Given the description of an element on the screen output the (x, y) to click on. 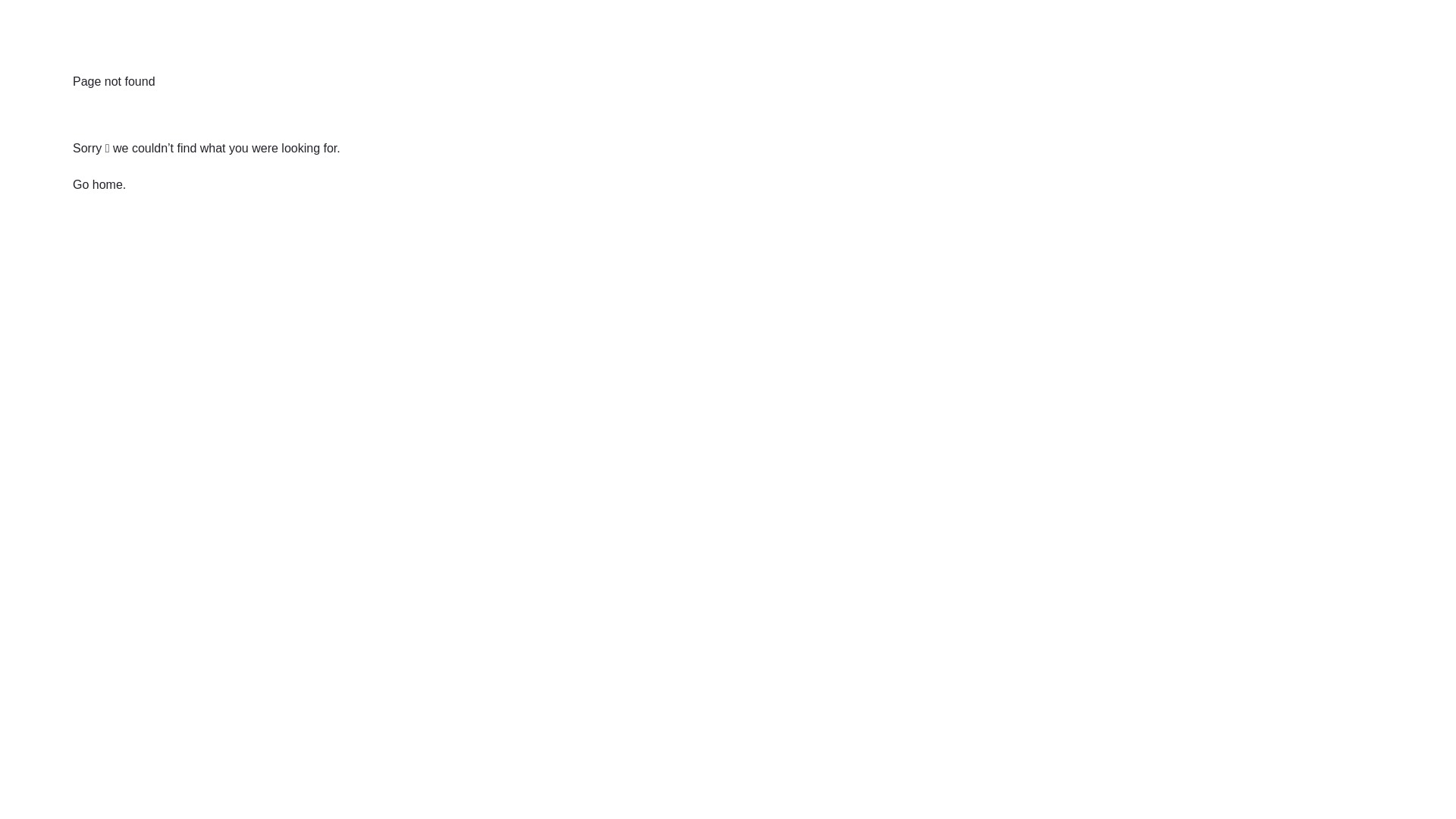
Go home Element type: text (97, 184)
